Given the description of an element on the screen output the (x, y) to click on. 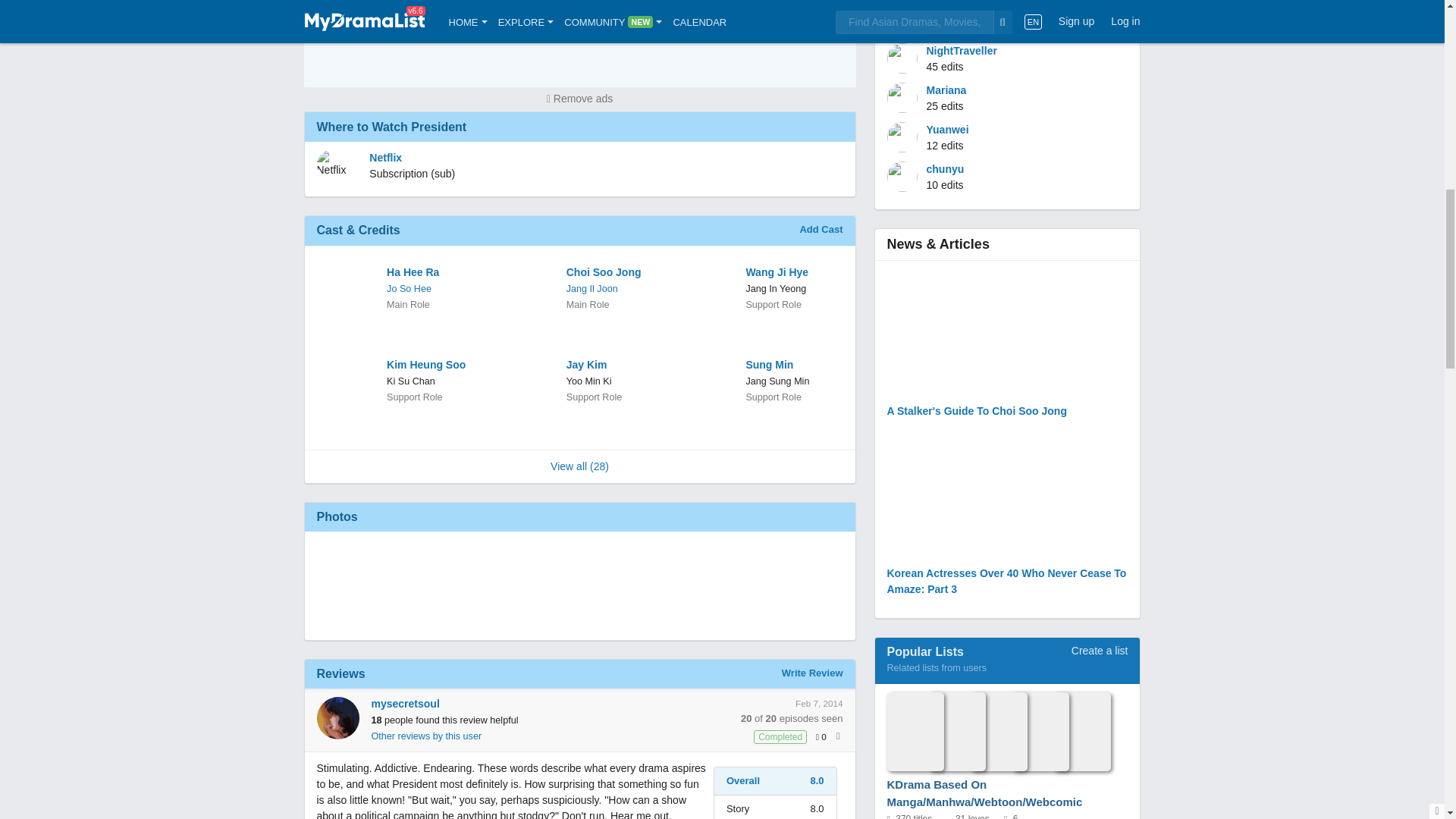
Jang Il Joon - President (591, 288)
Ha Hee Ra (433, 272)
Jo So Hee - President (408, 288)
Yoo Min Ki (588, 380)
Wang Ji Hye (792, 272)
Choi Soo Jong (613, 272)
Jay Kim (613, 365)
Ki Su Chan (411, 380)
Jang In Yeong (775, 288)
Kim Heung Soo (433, 365)
